Given the description of an element on the screen output the (x, y) to click on. 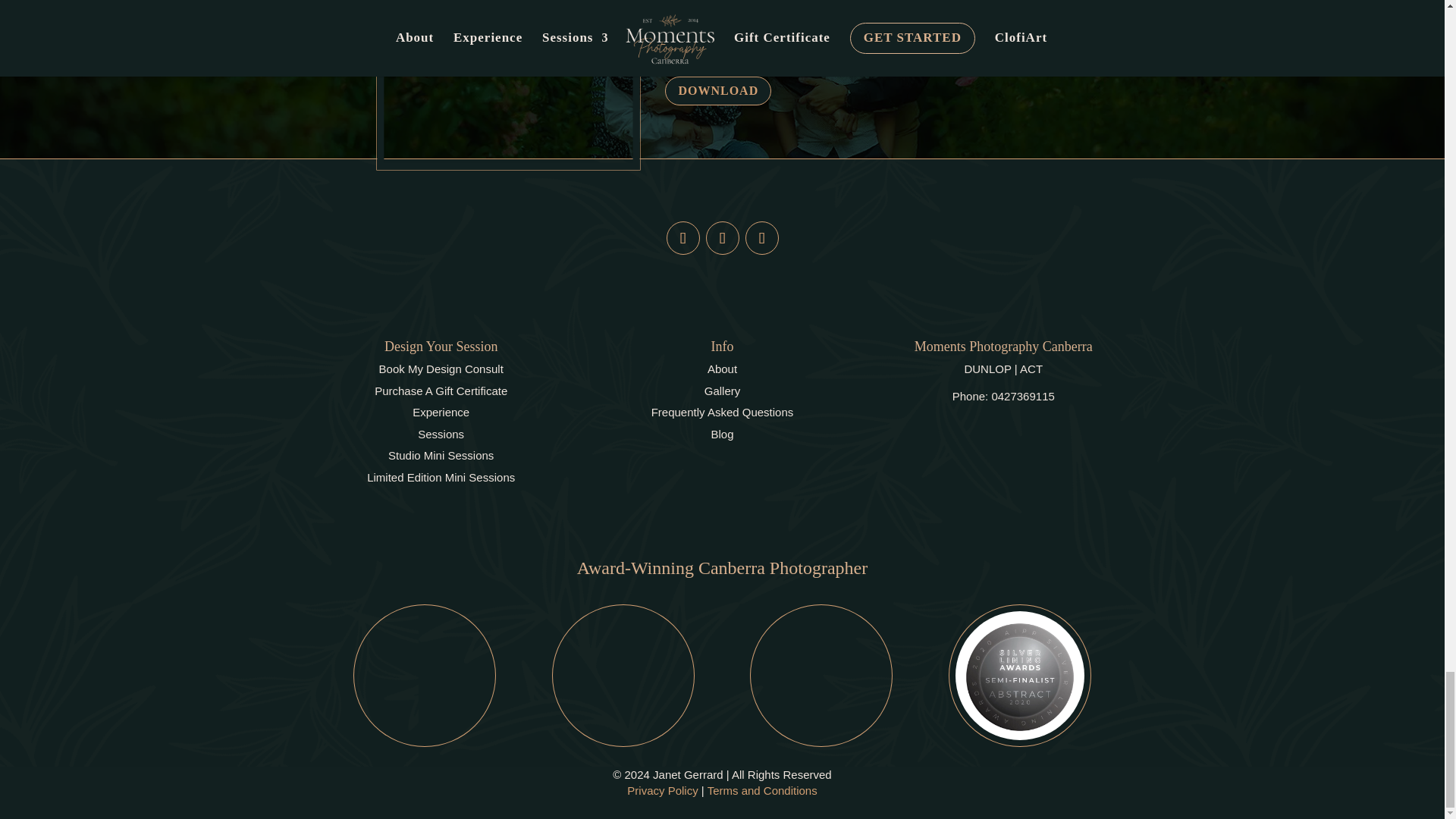
Silver lining awards semi-finalist (1019, 675)
Natural family photos in Canberra (494, 67)
Sony Photography Award (821, 675)
Follow on TikTok (760, 237)
Epson Silver Award (424, 675)
Follow on Instagram (721, 237)
Follow on Facebook (681, 237)
Sony Awards (623, 675)
